Given the description of an element on the screen output the (x, y) to click on. 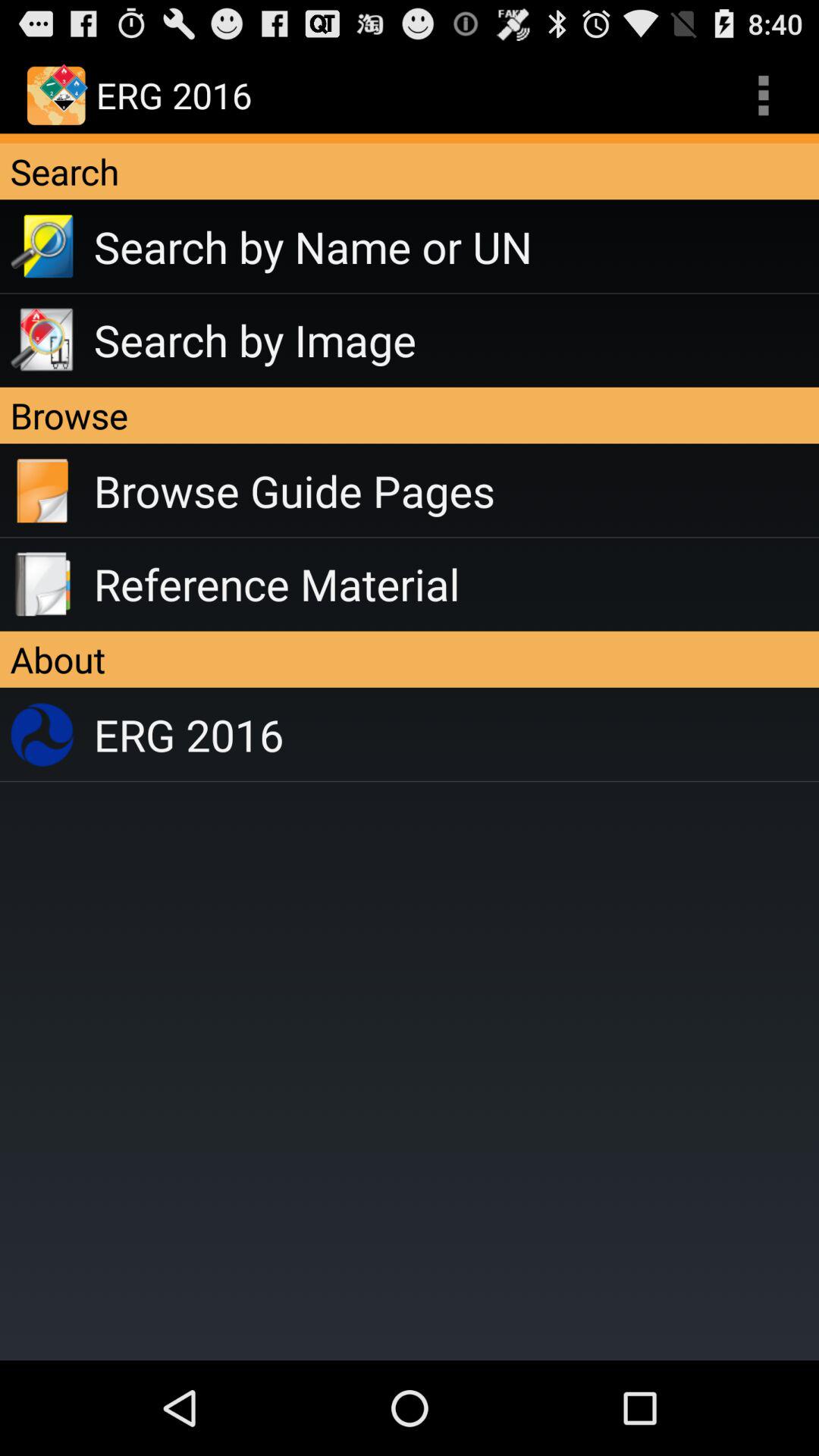
turn off item above erg 2016 app (409, 659)
